Given the description of an element on the screen output the (x, y) to click on. 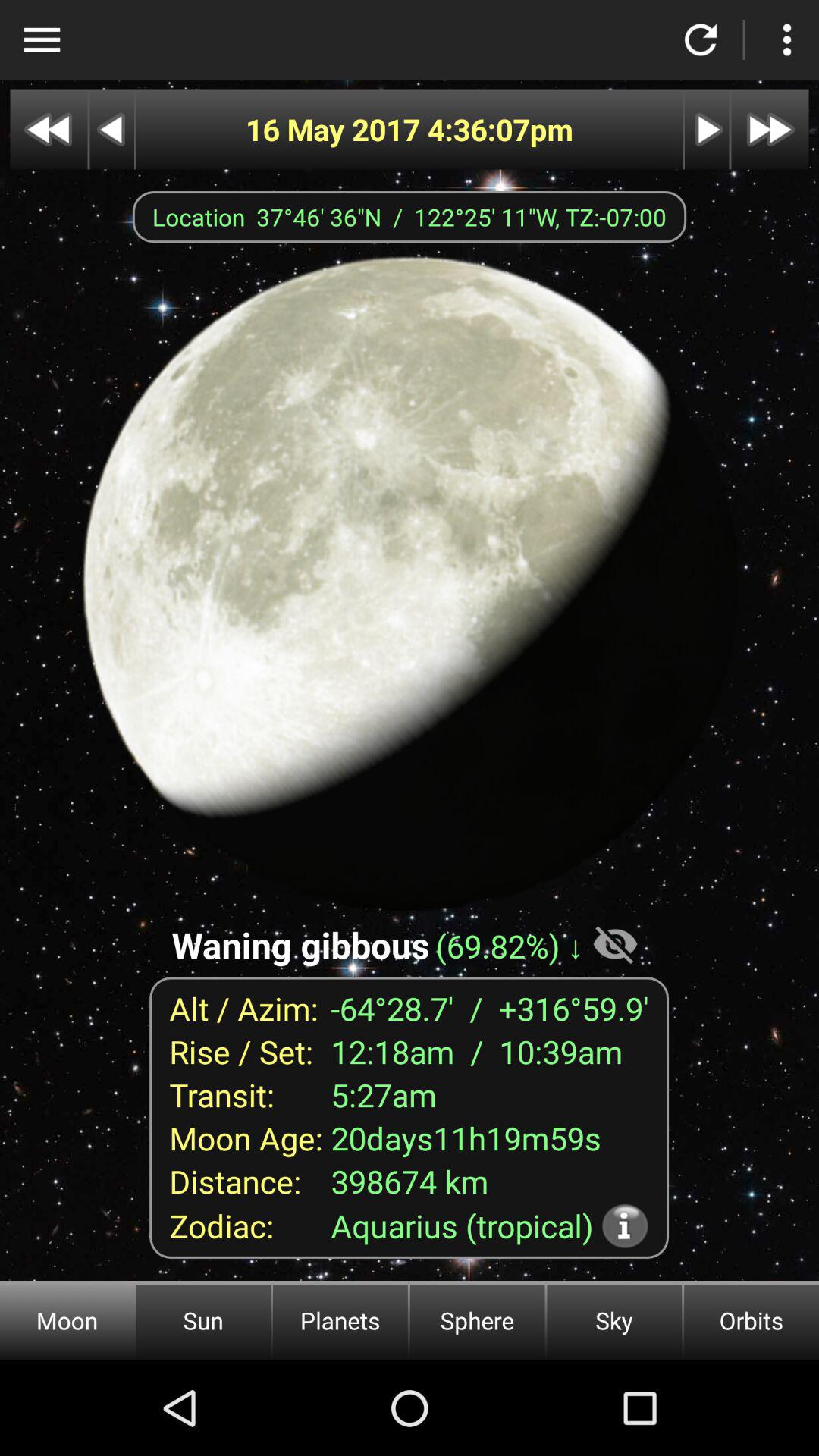
toggle menu (41, 39)
